Given the description of an element on the screen output the (x, y) to click on. 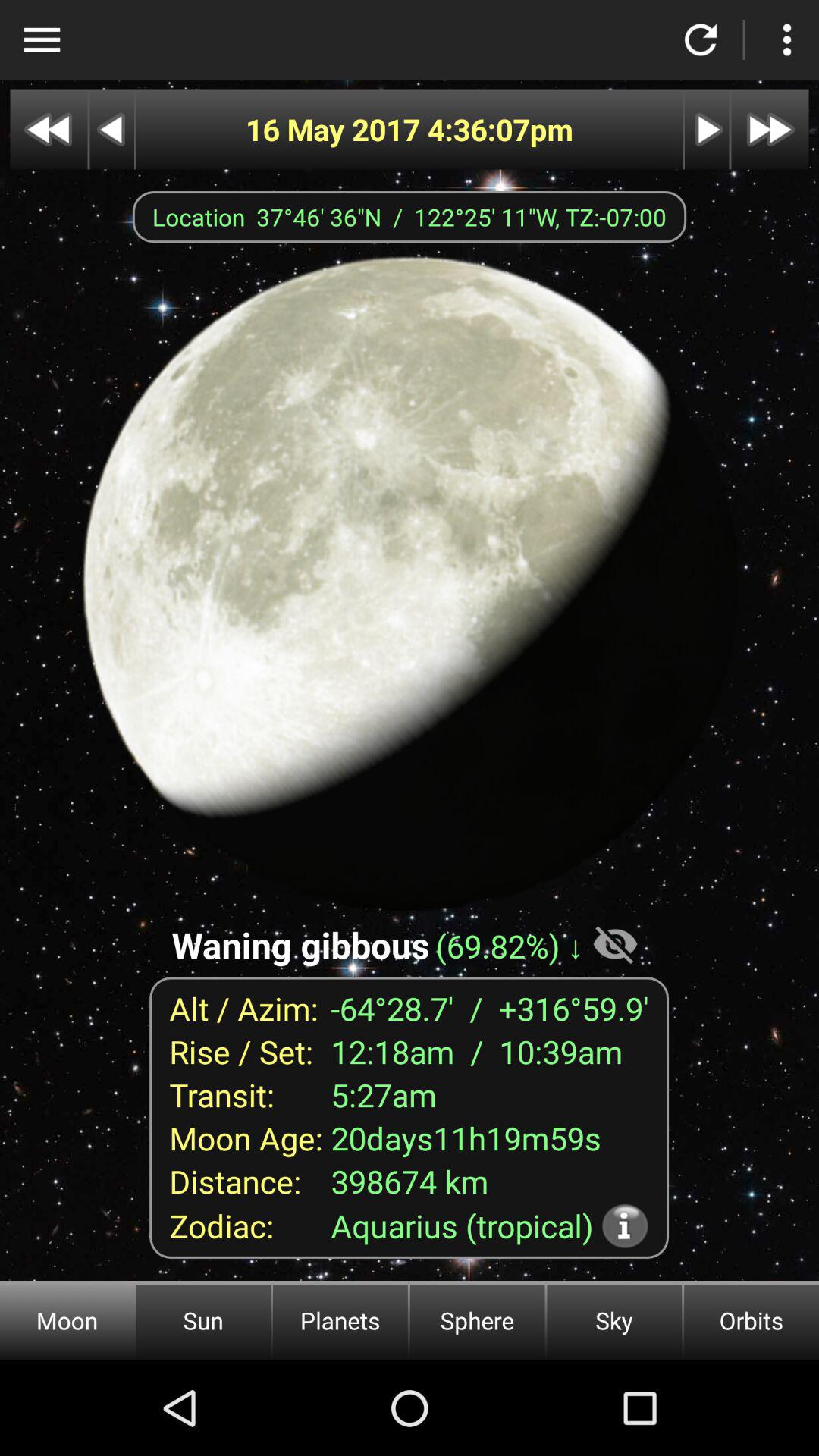
toggle menu (41, 39)
